Given the description of an element on the screen output the (x, y) to click on. 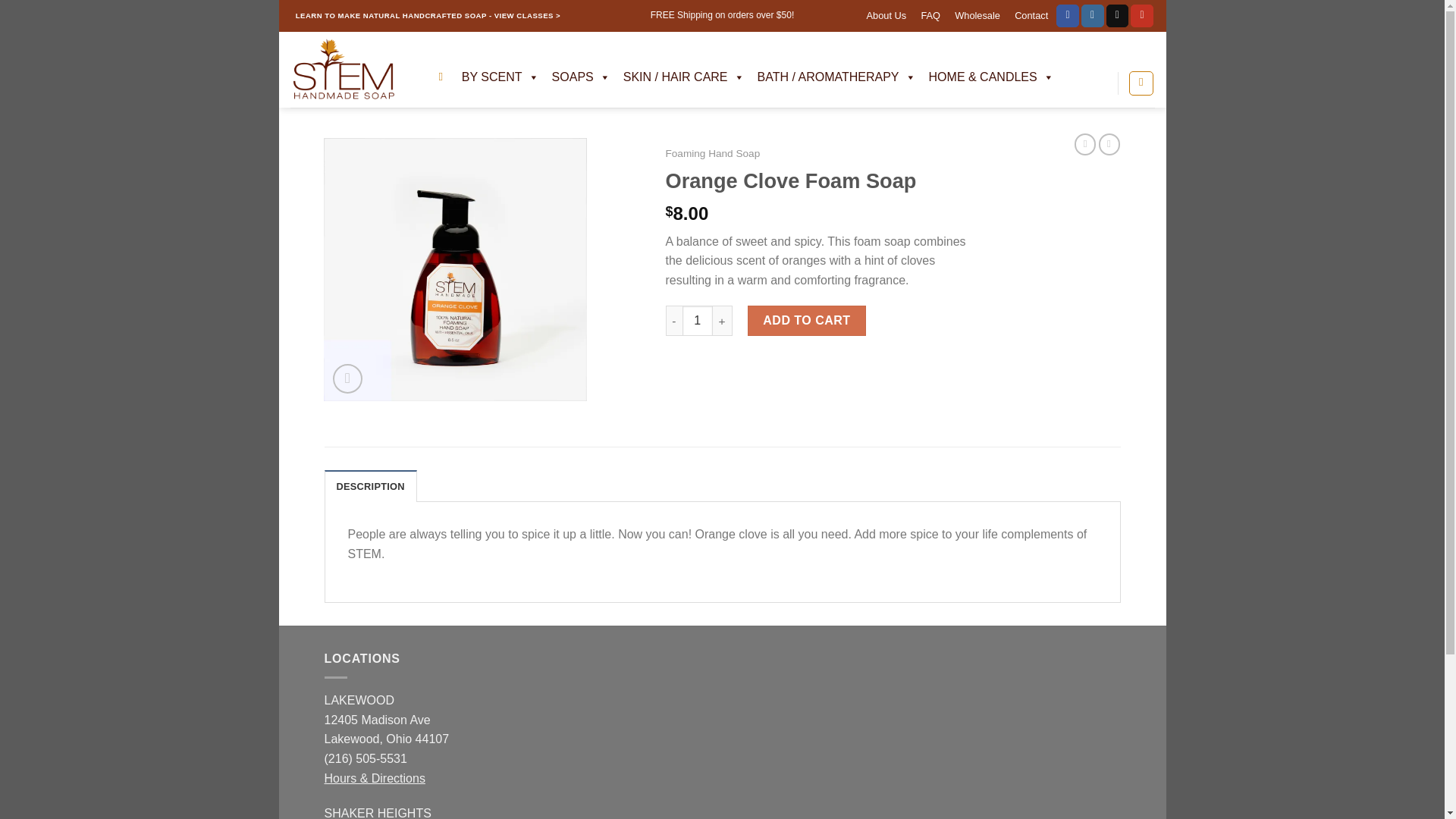
BY SCENT (499, 77)
SOAPS (579, 77)
FAQ (930, 15)
Zoom (347, 378)
About Us (886, 15)
1 (697, 320)
STEM Soaps (351, 69)
Contact (1031, 15)
Follow on Instagram (1092, 15)
Wholesale (977, 15)
